Given the description of an element on the screen output the (x, y) to click on. 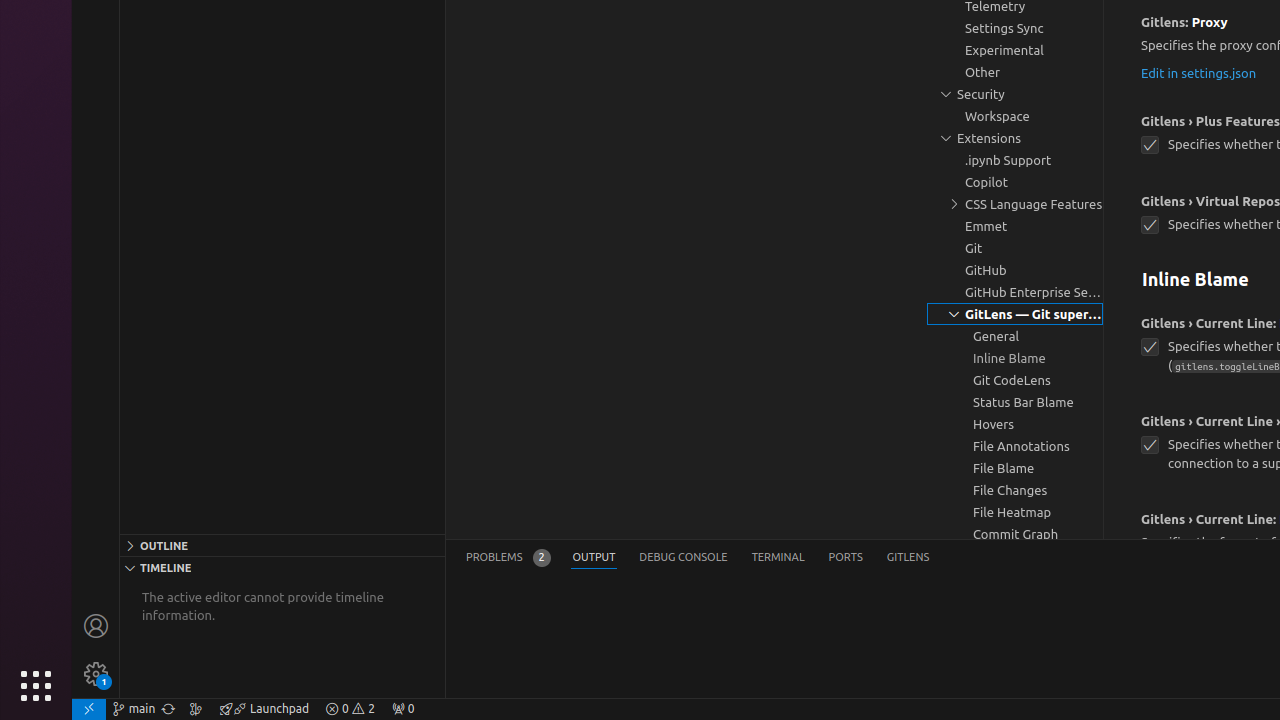
gitlens.currentLine.enabled Element type: check-box (1150, 347)
rocket gitlens-unplug Launchpad, GitLens Launchpad ᴘʀᴇᴠɪᴇᴡ    &mdash;    [$(question)](command:gitlens.launchpad.indicator.action?%22info%22 "What is this?") [$(gear)](command:workbench.action.openSettings?%22gitlens.launchpad%22 "Settings")  |  [$(circle-slash) Hide](command:gitlens.launchpad.indicator.action?%22hide%22 "Hide") --- [Launchpad](command:gitlens.launchpad.indicator.action?%info%22 "Learn about Launchpad") organizes your pull requests into actionable groups to help you focus and keep your team unblocked. It's always accessible using the `GitLens: Open Launchpad` command from the Command Palette. --- [Connect an integration](command:gitlens.showLaunchpad?%7B%22source%22%3A%22launchpad-indicator%22%7D "Connect an integration") to get started. Element type: push-button (264, 709)
OSWorld (Git) - main, Checkout Branch/Tag... Element type: push-button (134, 709)
Output (Ctrl+K Ctrl+H) Element type: page-tab (594, 557)
Security, group Element type: tree-item (1015, 94)
